Given the description of an element on the screen output the (x, y) to click on. 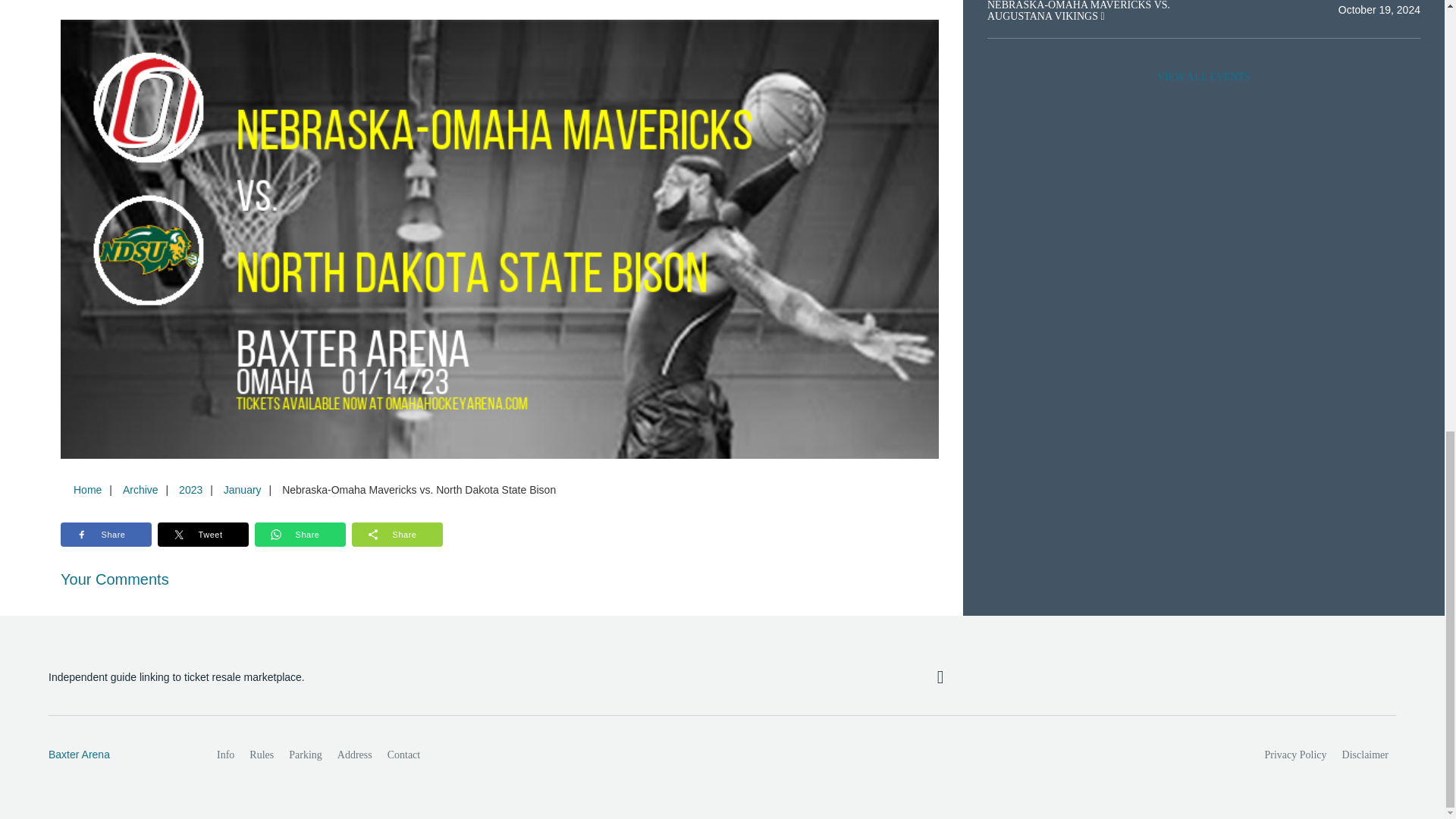
Archive (140, 490)
Rules (261, 755)
Disclaimer (1365, 755)
January (242, 490)
2023 (190, 490)
Parking (305, 755)
Baxter Arena (116, 754)
Home (87, 490)
Address (355, 755)
Info (225, 755)
Contact (404, 755)
VIEW ALL EVENTS (1203, 77)
Privacy Policy (1296, 755)
